Given the description of an element on the screen output the (x, y) to click on. 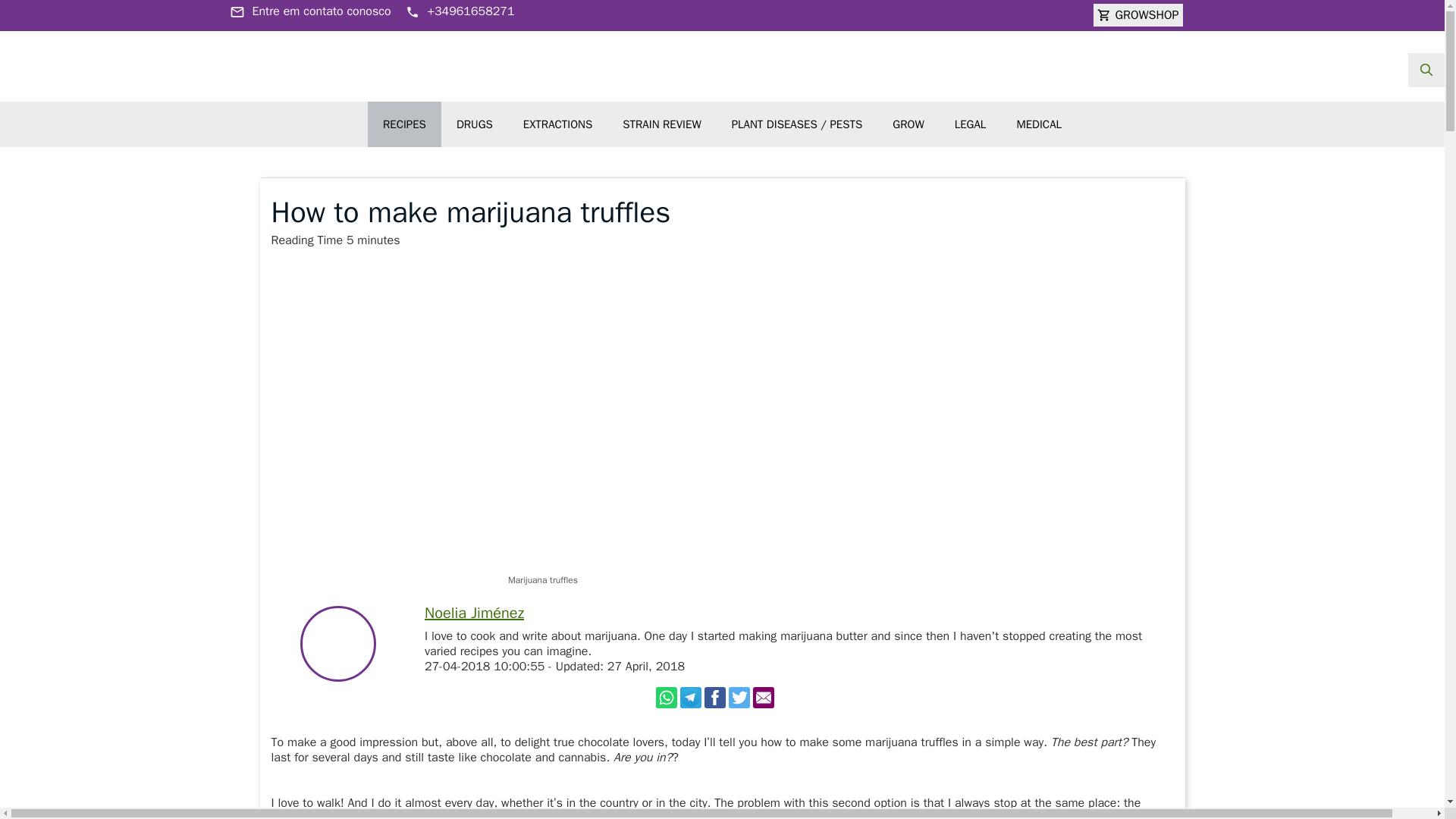
E-mail (762, 697)
LEGAL (970, 124)
Telegram (689, 697)
DRUGS (474, 124)
Facebook (714, 697)
EXTRACTIONS (557, 124)
GROWSHOP (1137, 15)
MEDICAL (1039, 124)
Marijuana truffles (722, 419)
Pevgrow.com (721, 48)
Girl Scout Cookies (1005, 814)
STRAIN REVIEW (661, 124)
RECIPES (404, 124)
GROW (908, 124)
Whatsapp (666, 697)
